Given the description of an element on the screen output the (x, y) to click on. 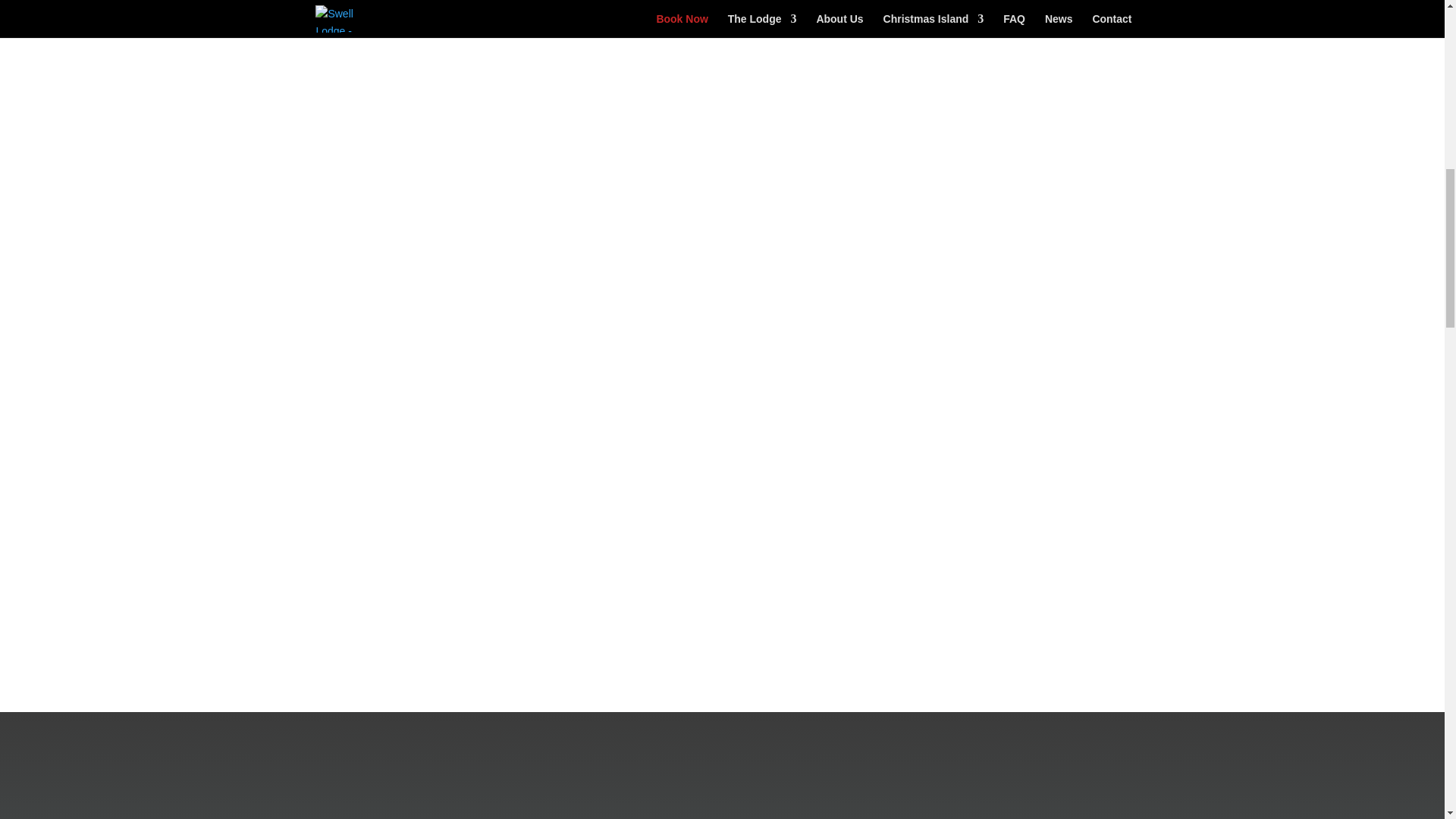
Fine dining (1009, 306)
plane (433, 241)
